Given the description of an element on the screen output the (x, y) to click on. 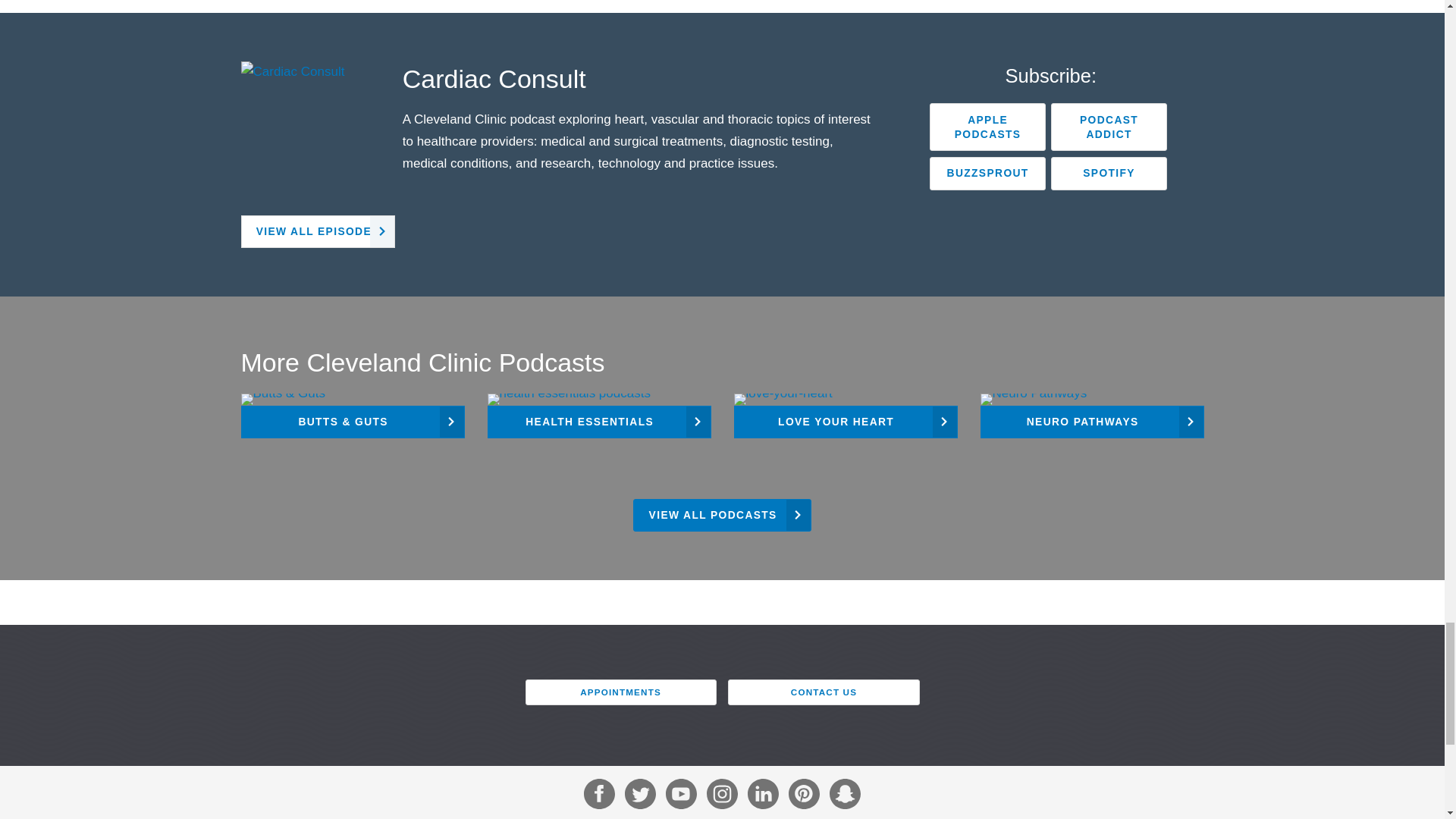
Cardiac Consult (494, 78)
View All Health Essentials Episodes (598, 415)
View All Love Your Heart Episodes (845, 415)
View All Neuro Pathways Episodes (1091, 415)
